Given the description of an element on the screen output the (x, y) to click on. 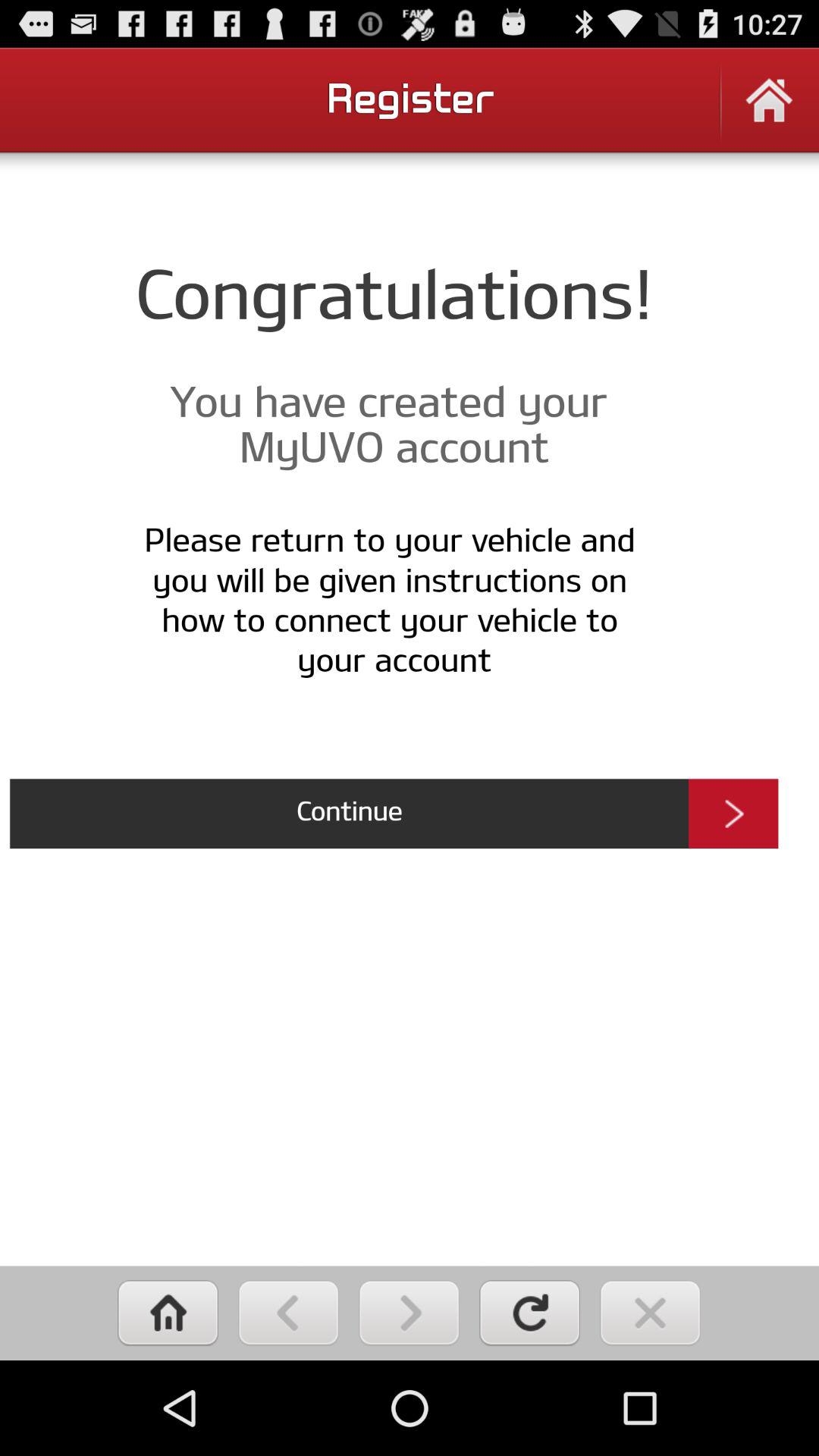
go back (288, 1313)
